Given the description of an element on the screen output the (x, y) to click on. 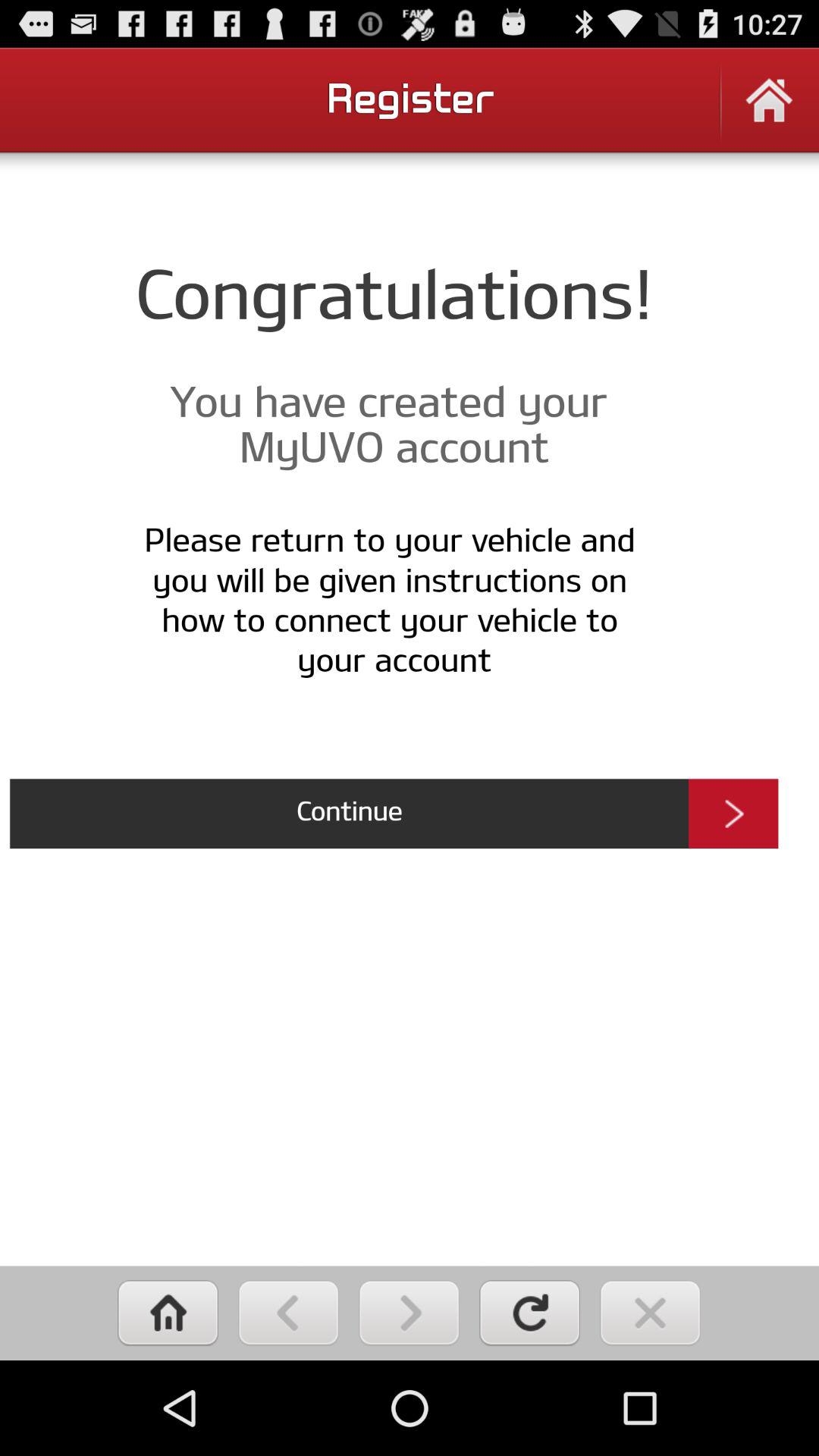
go back (288, 1313)
